Given the description of an element on the screen output the (x, y) to click on. 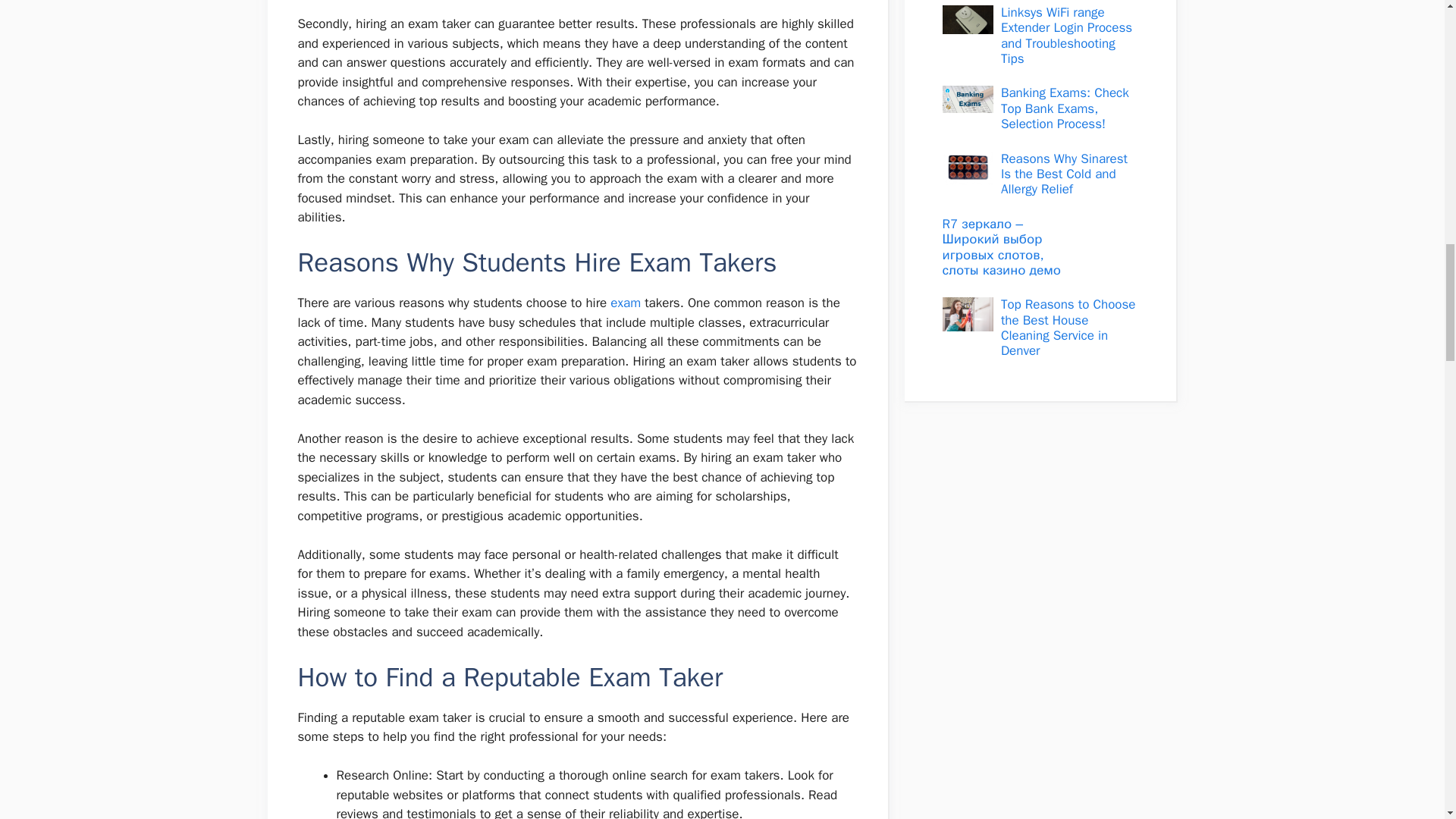
exam (625, 302)
